Given the description of an element on the screen output the (x, y) to click on. 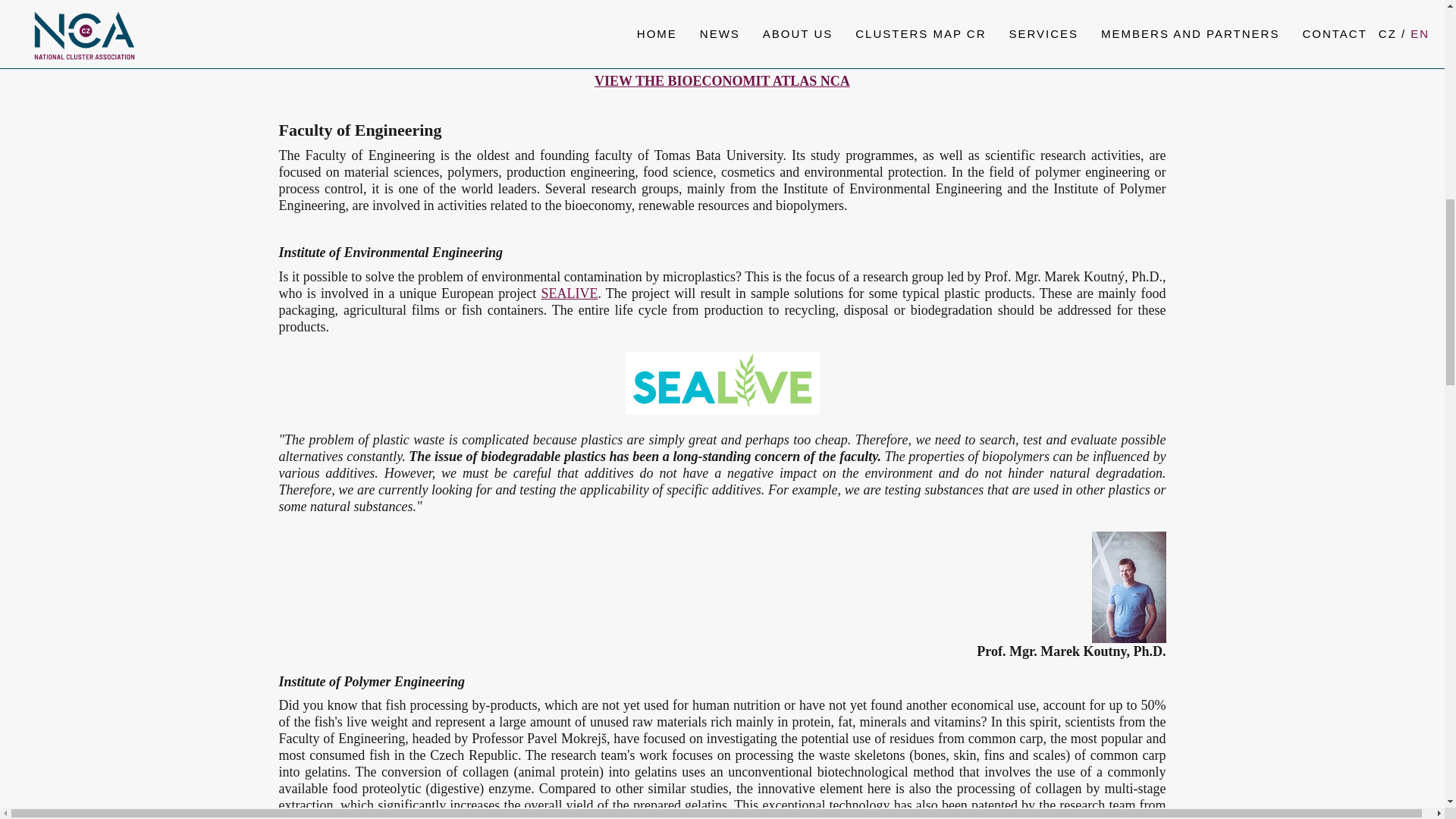
SEALIVE (568, 293)
VIEW THE BIOECONOMIT ATLAS NCA (722, 80)
